Given the description of an element on the screen output the (x, y) to click on. 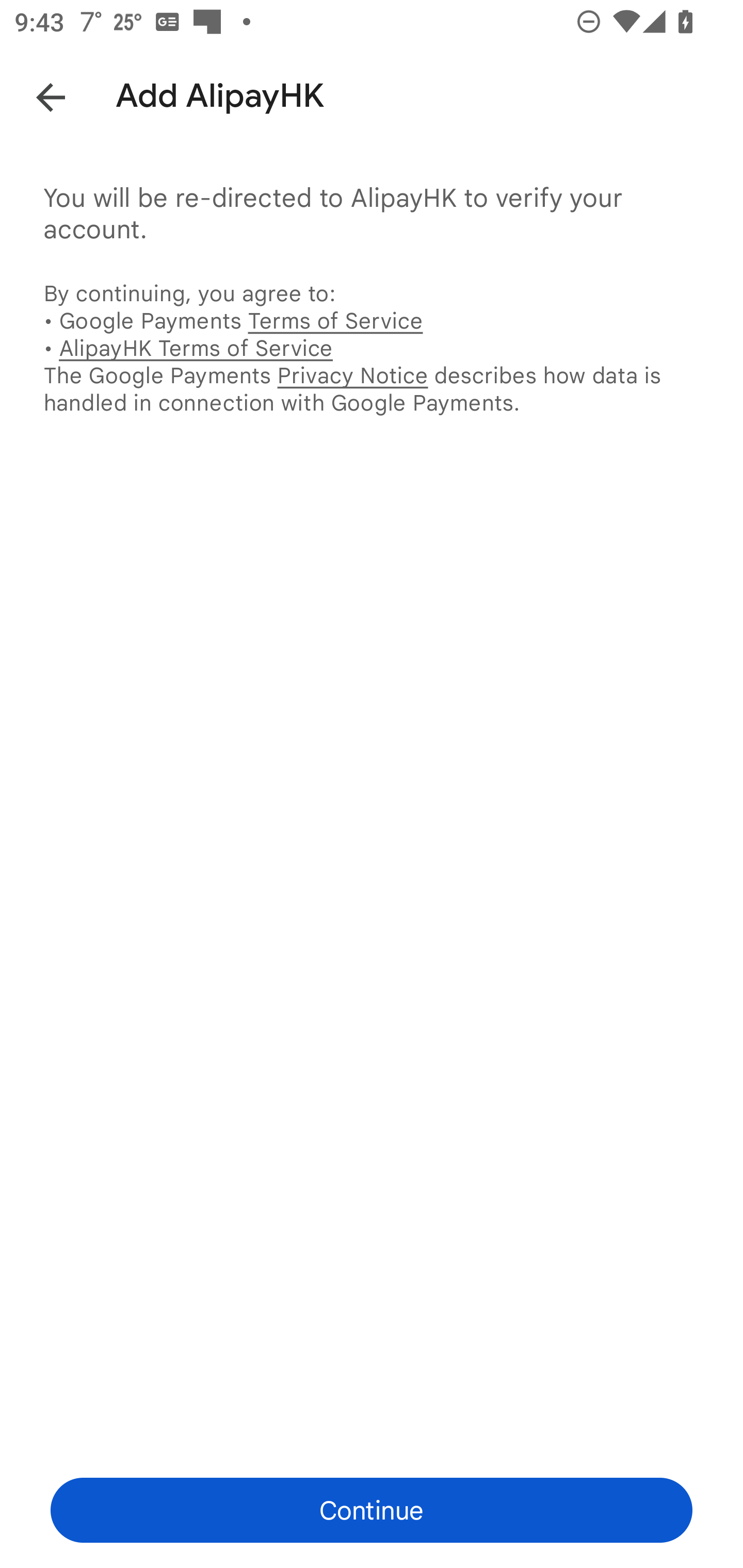
Back (36, 94)
Terms of Service (334, 320)
AlipayHK Terms of Service (195, 347)
Privacy Notice (352, 375)
Continue (371, 1510)
